Given the description of an element on the screen output the (x, y) to click on. 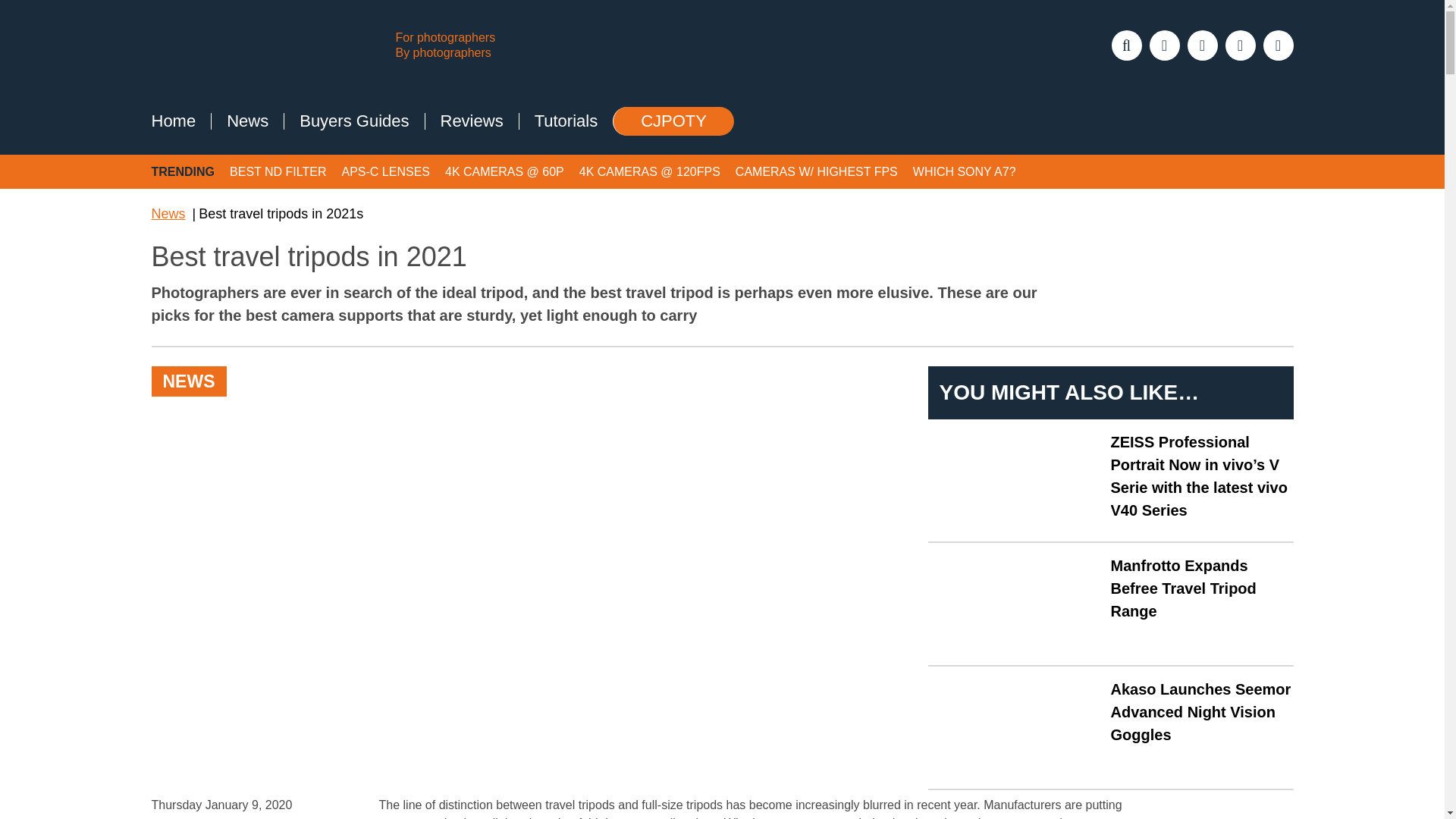
Manfrotto Expands Befree Travel Tripod Range (1016, 603)
Buyers Guides (353, 121)
CJPOTY (674, 121)
APS-C LENSES (384, 171)
Tutorials (565, 121)
Akaso Launches Seemor Advanced Night Vision Goggles (1016, 727)
Reviews (471, 121)
BEST ND FILTER (277, 171)
Akaso Launches Seemor Advanced Night Vision Goggles (1200, 712)
Akaso Launches Seemor Advanced Night Vision Goggles (1200, 712)
